Given the description of an element on the screen output the (x, y) to click on. 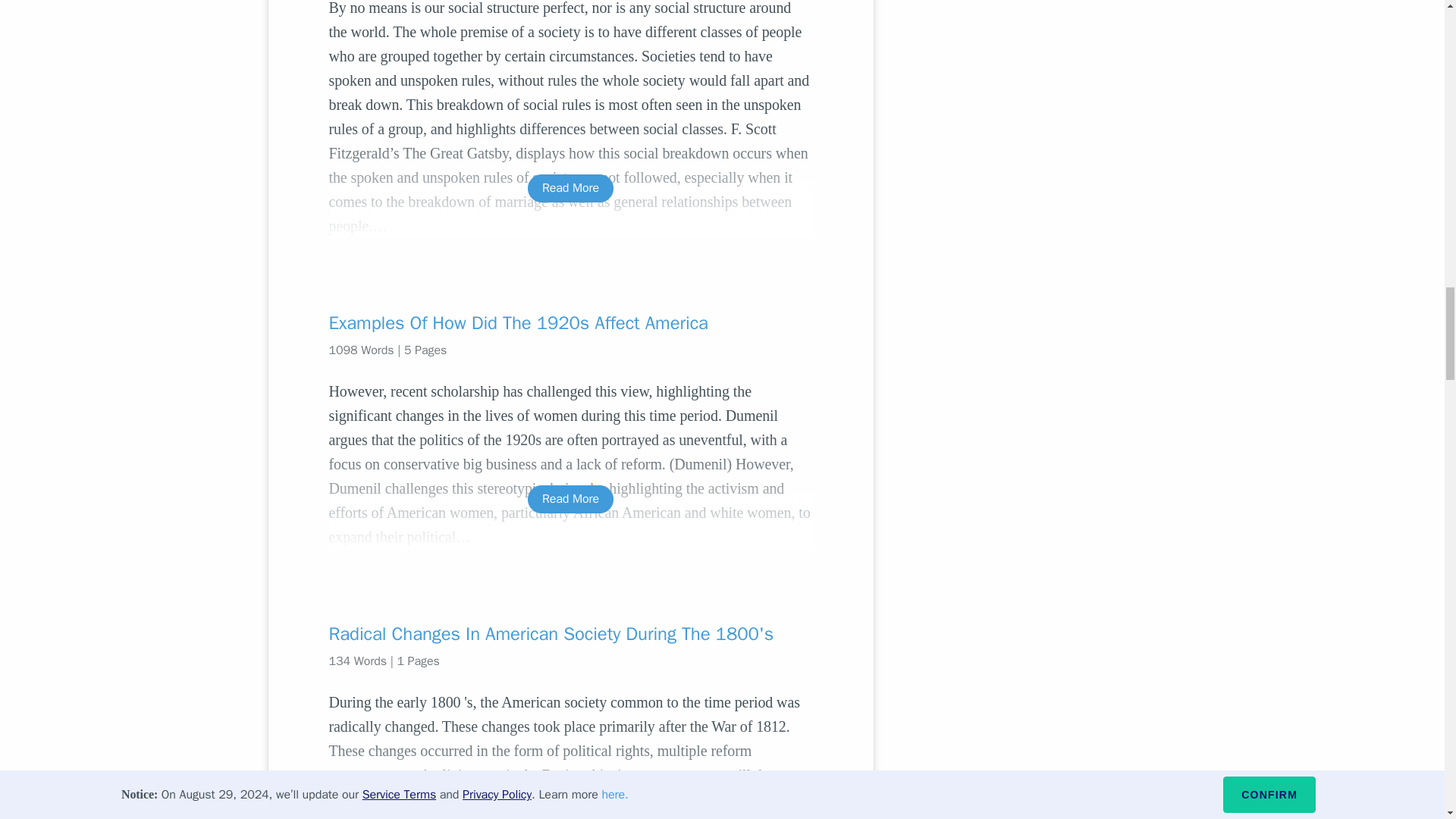
Radical Changes In American Society During The 1800's (570, 633)
Read More (569, 499)
Read More (569, 786)
Examples Of How Did The 1920s Affect America (570, 322)
Read More (569, 188)
